Given the description of an element on the screen output the (x, y) to click on. 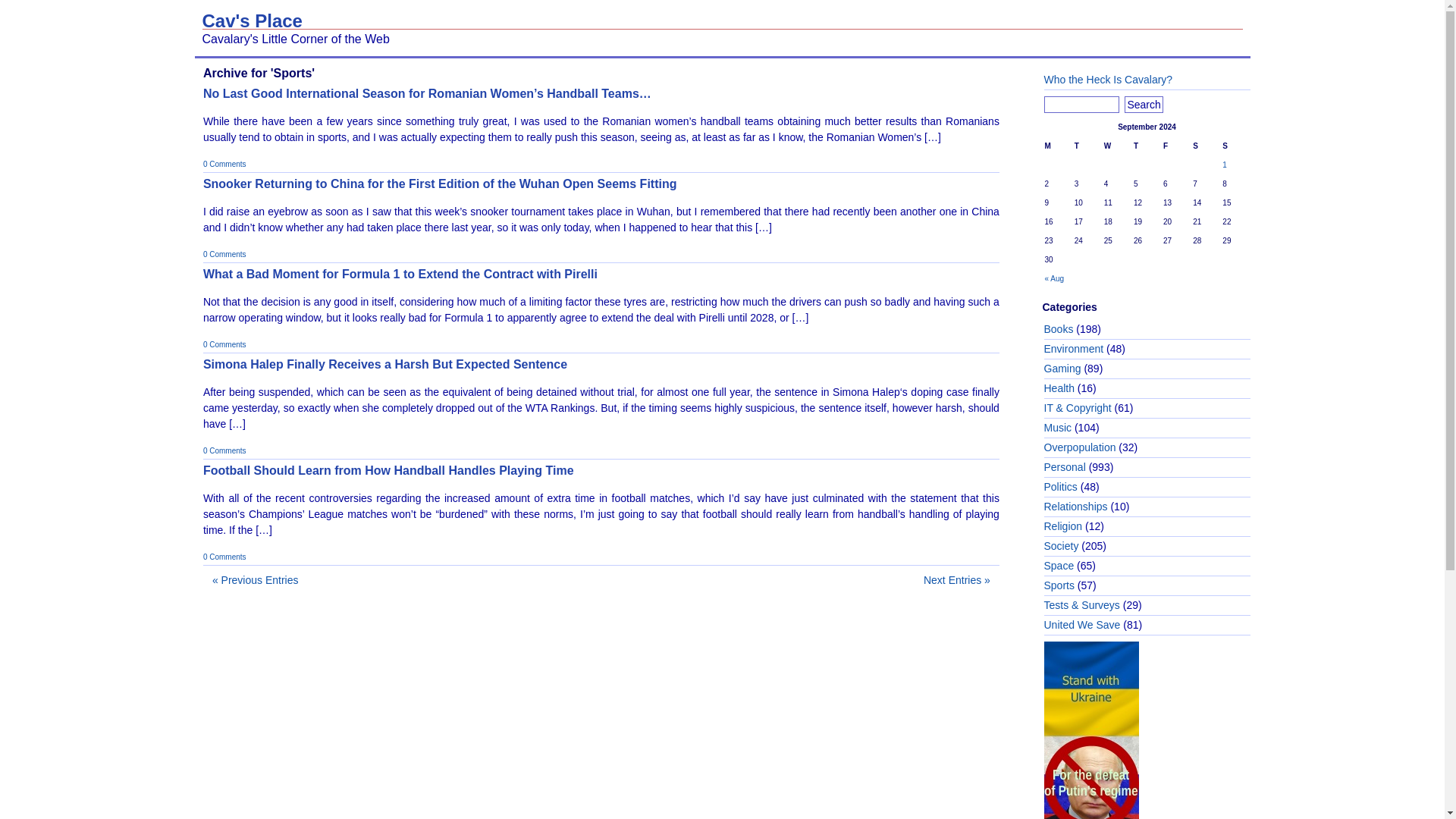
Environment (1073, 348)
Religion (1062, 526)
Football Should Learn from How Handball Handles Playing Time (388, 470)
Thursday (1146, 145)
0 Comments (224, 450)
Politics (1060, 486)
0 Comments (224, 163)
Search (1142, 104)
Friday (1176, 145)
Simona Halep Finally Receives a Harsh But Expected Sentence (385, 364)
